Given the description of an element on the screen output the (x, y) to click on. 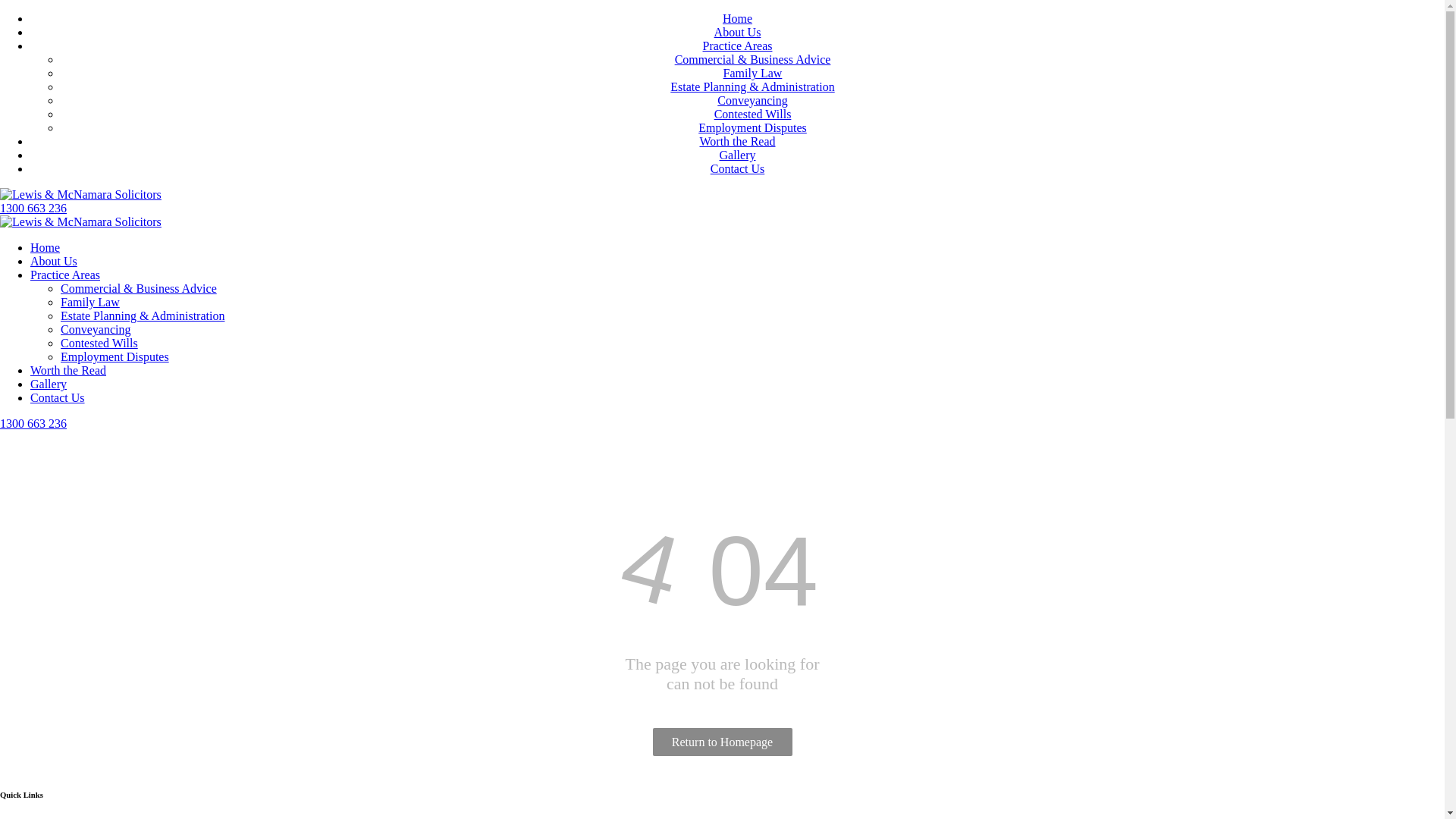
Commercial & Business Advice Element type: text (752, 59)
Family Law Element type: text (752, 72)
Practice Areas Element type: text (65, 274)
Family Law Element type: text (89, 301)
Conveyancing Element type: text (95, 329)
Lewis & McNamara Solicitors Element type: hover (80, 222)
1300 663 236 Element type: text (33, 423)
Return to Homepage Element type: text (721, 742)
Home Element type: text (737, 18)
Practice Areas Element type: text (737, 45)
1300 663 236 Element type: text (33, 207)
Estate Planning & Administration Element type: text (142, 315)
Estate Planning & Administration Element type: text (752, 86)
Lewis & McNamara Solicitors Element type: hover (80, 194)
Contested Wills Element type: text (99, 342)
About Us Element type: text (53, 260)
Worth the Read Element type: text (68, 370)
Contested Wills Element type: text (752, 113)
Commercial & Business Advice Element type: text (138, 288)
Employment Disputes Element type: text (114, 356)
Contact Us Element type: text (737, 168)
Home Element type: text (44, 247)
Conveyancing Element type: text (752, 100)
Worth the Read Element type: text (737, 140)
Gallery Element type: text (736, 154)
Contact Us Element type: text (57, 397)
Gallery Element type: text (48, 383)
About Us Element type: text (737, 31)
Employment Disputes Element type: text (752, 127)
